Given the description of an element on the screen output the (x, y) to click on. 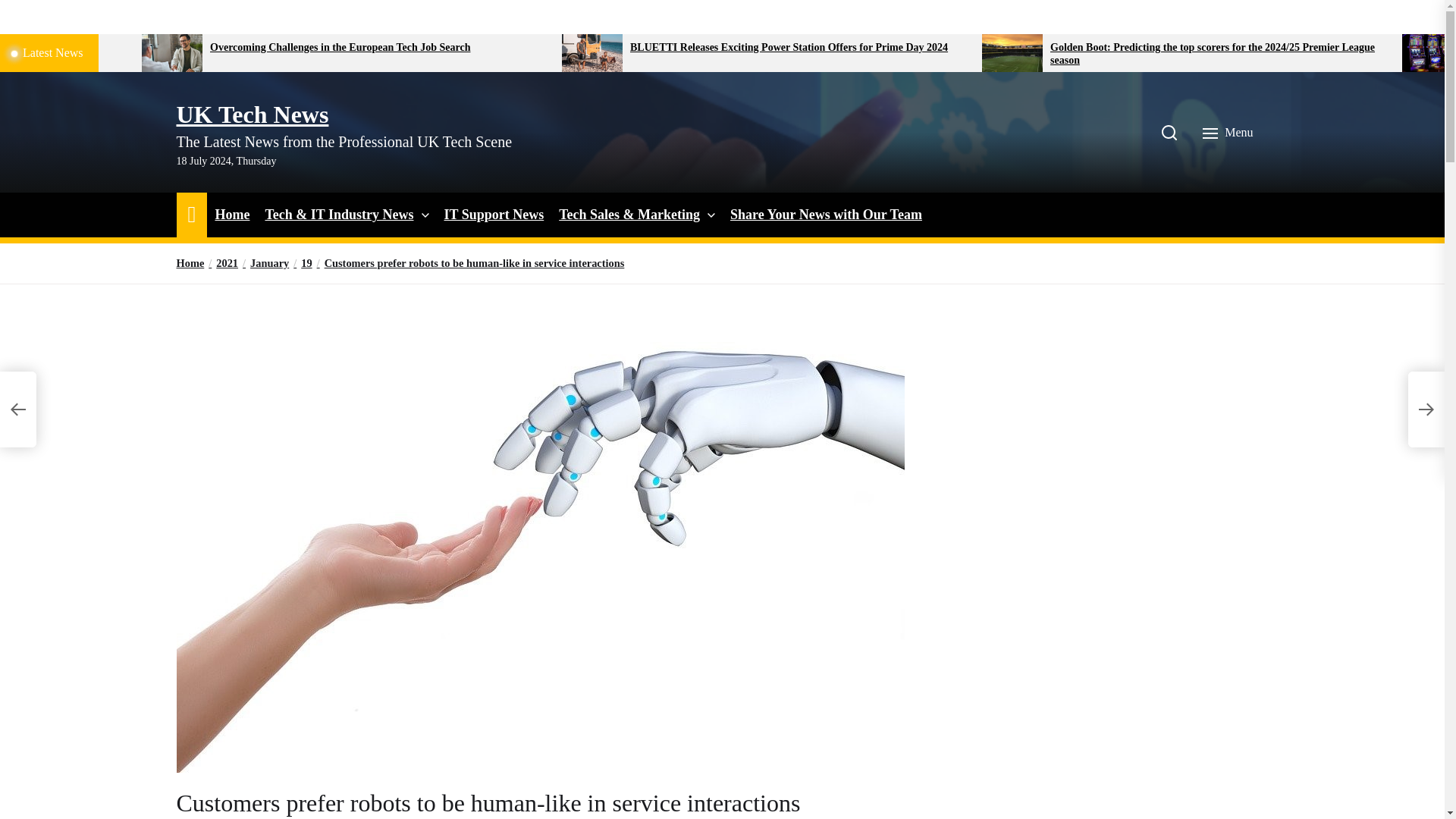
How Technology Has Revolutionized Online Roulette (65, 47)
Overcoming Challenges in the European Tech Job Search (379, 47)
